Given the description of an element on the screen output the (x, y) to click on. 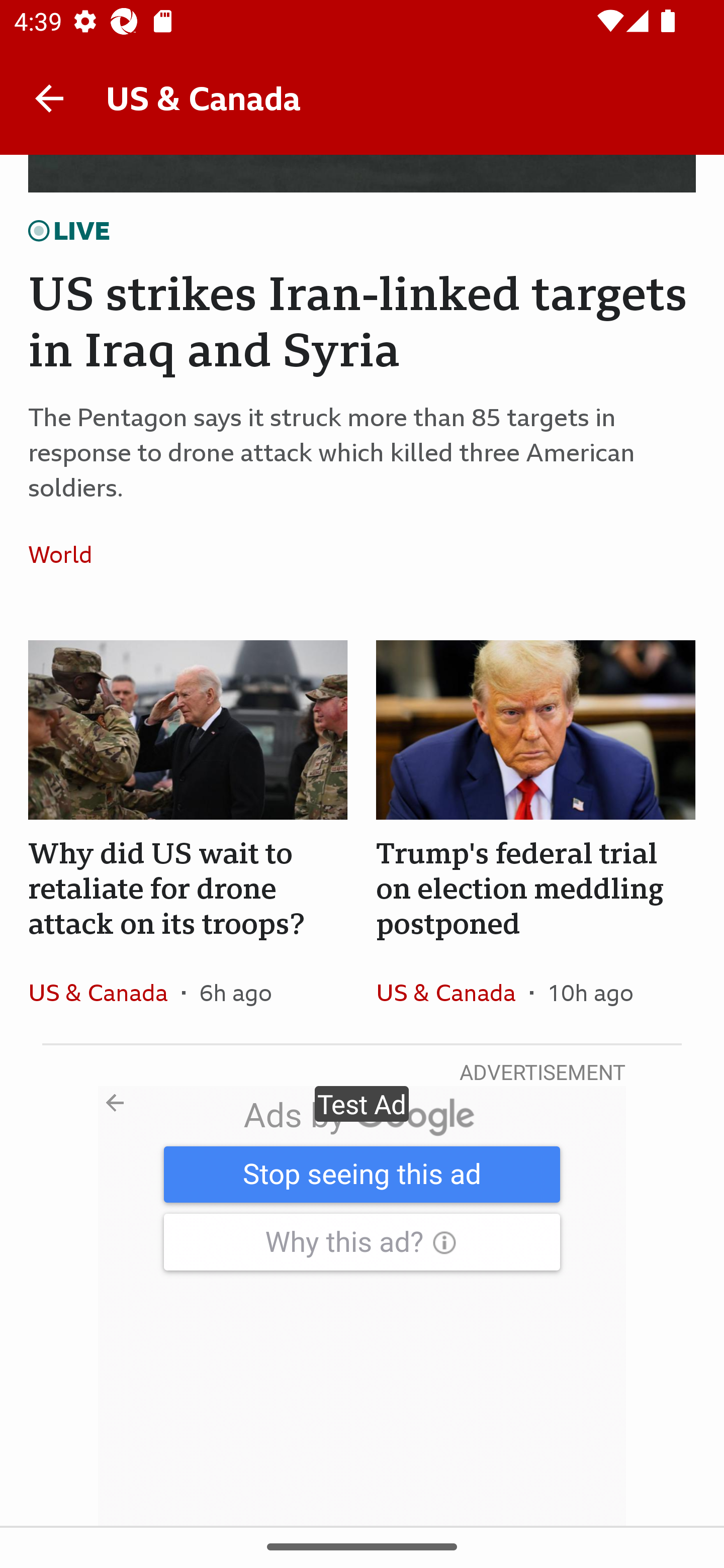
Back (49, 97)
World In the section World (67, 554)
US & Canada In the section US & Canada (104, 992)
US & Canada In the section US & Canada (452, 992)
Advertisement (361, 1305)
